Given the description of an element on the screen output the (x, y) to click on. 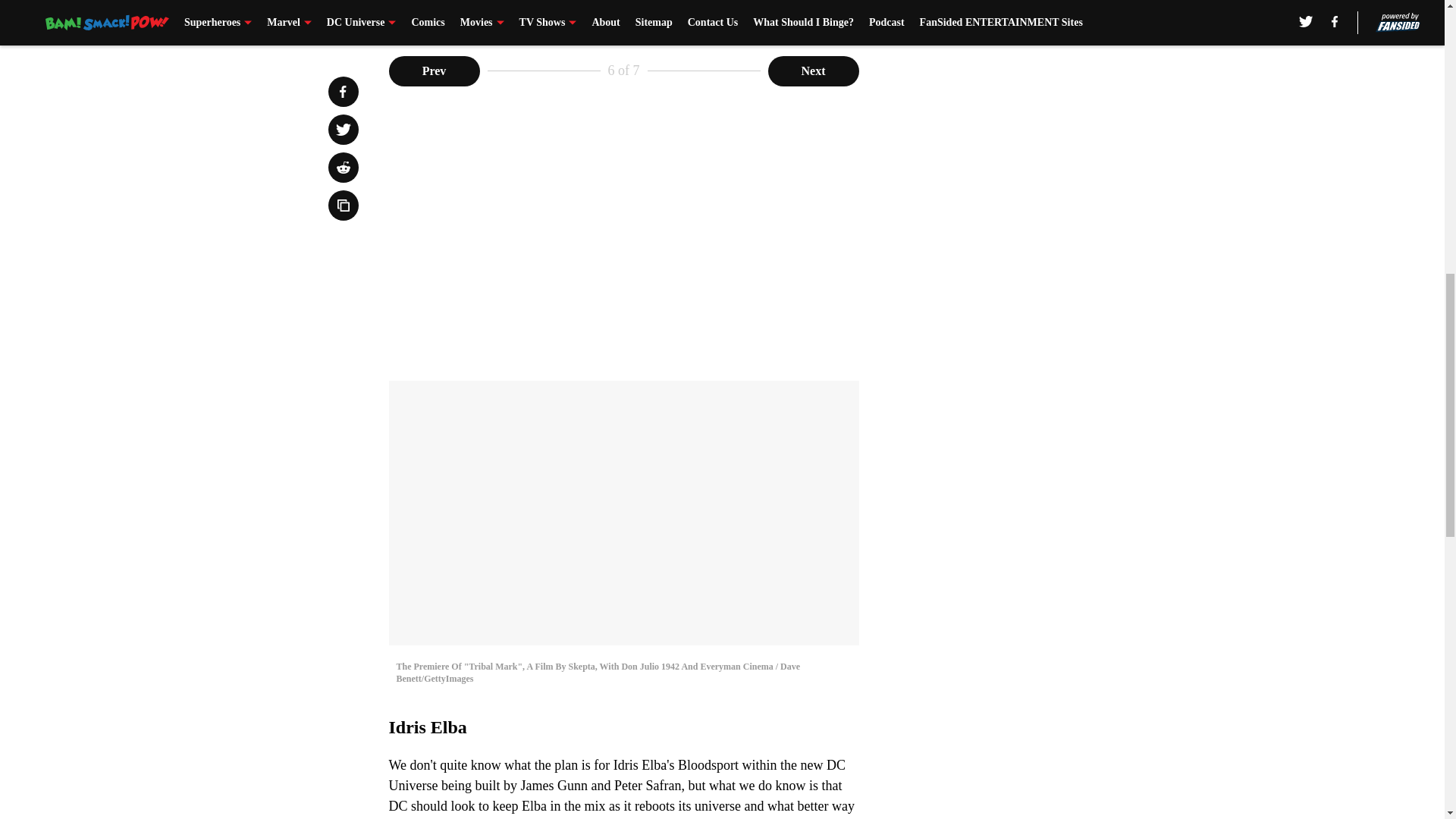
Next (813, 71)
Prev (433, 71)
